Given the description of an element on the screen output the (x, y) to click on. 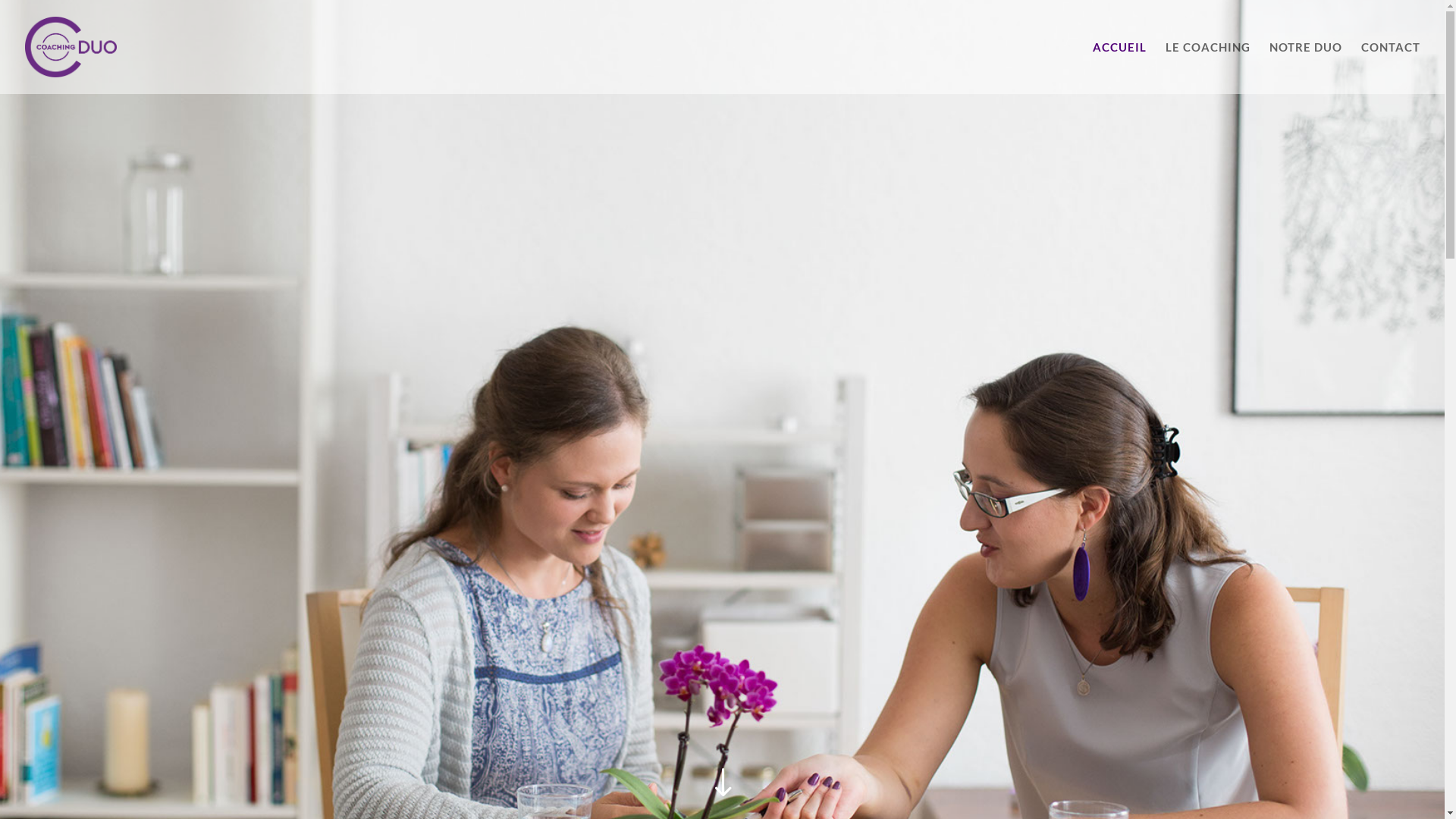
LE COACHING Element type: text (1207, 67)
" Element type: text (721, 783)
NOTRE DUO Element type: text (1305, 67)
CONTACT Element type: text (1390, 67)
ACCUEIL Element type: text (1119, 67)
